Given the description of an element on the screen output the (x, y) to click on. 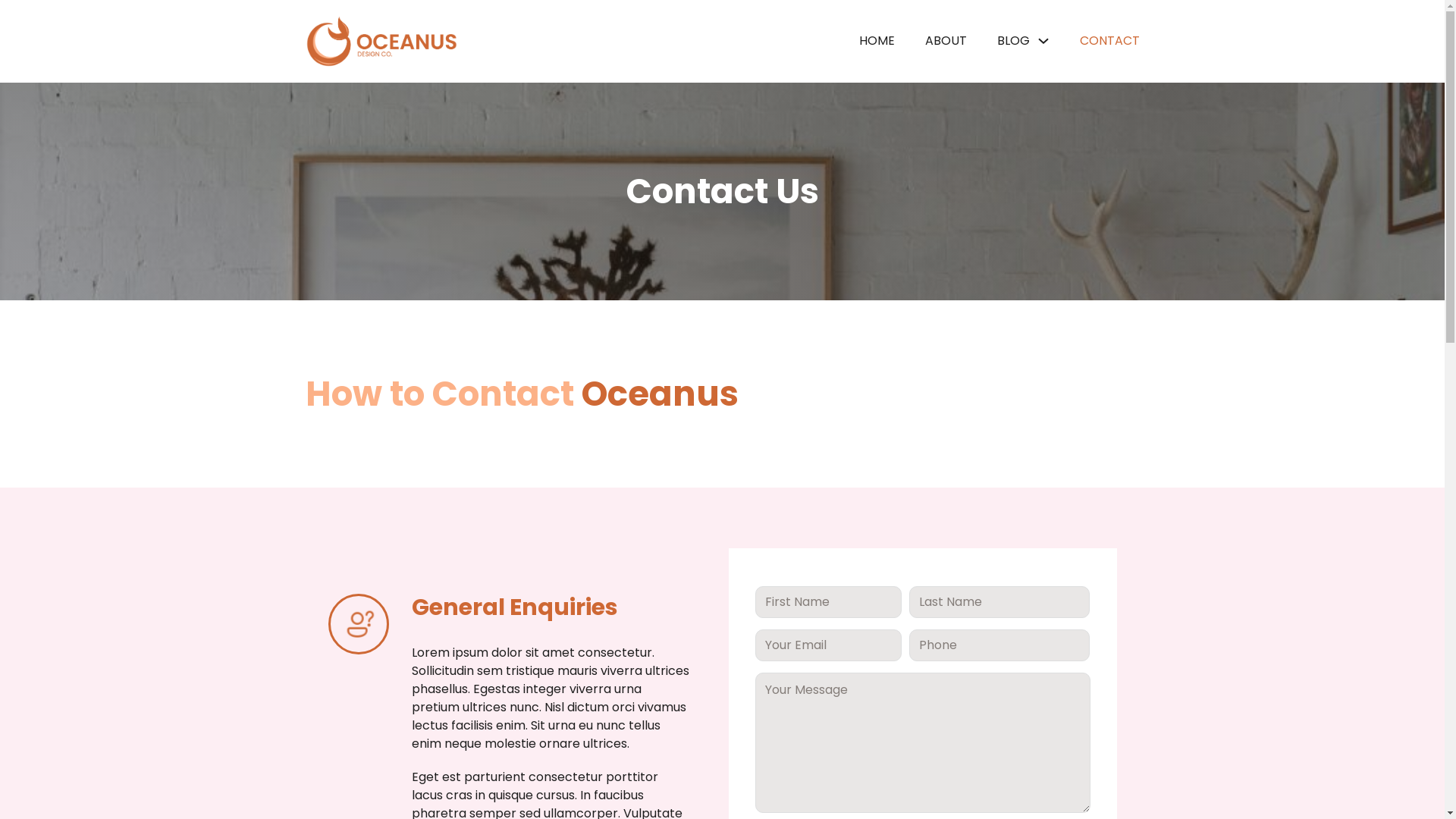
CONTACT Element type: text (1109, 40)
HOME Element type: text (876, 40)
ABOUT Element type: text (945, 40)
BLOG Element type: text (1012, 40)
